Given the description of an element on the screen output the (x, y) to click on. 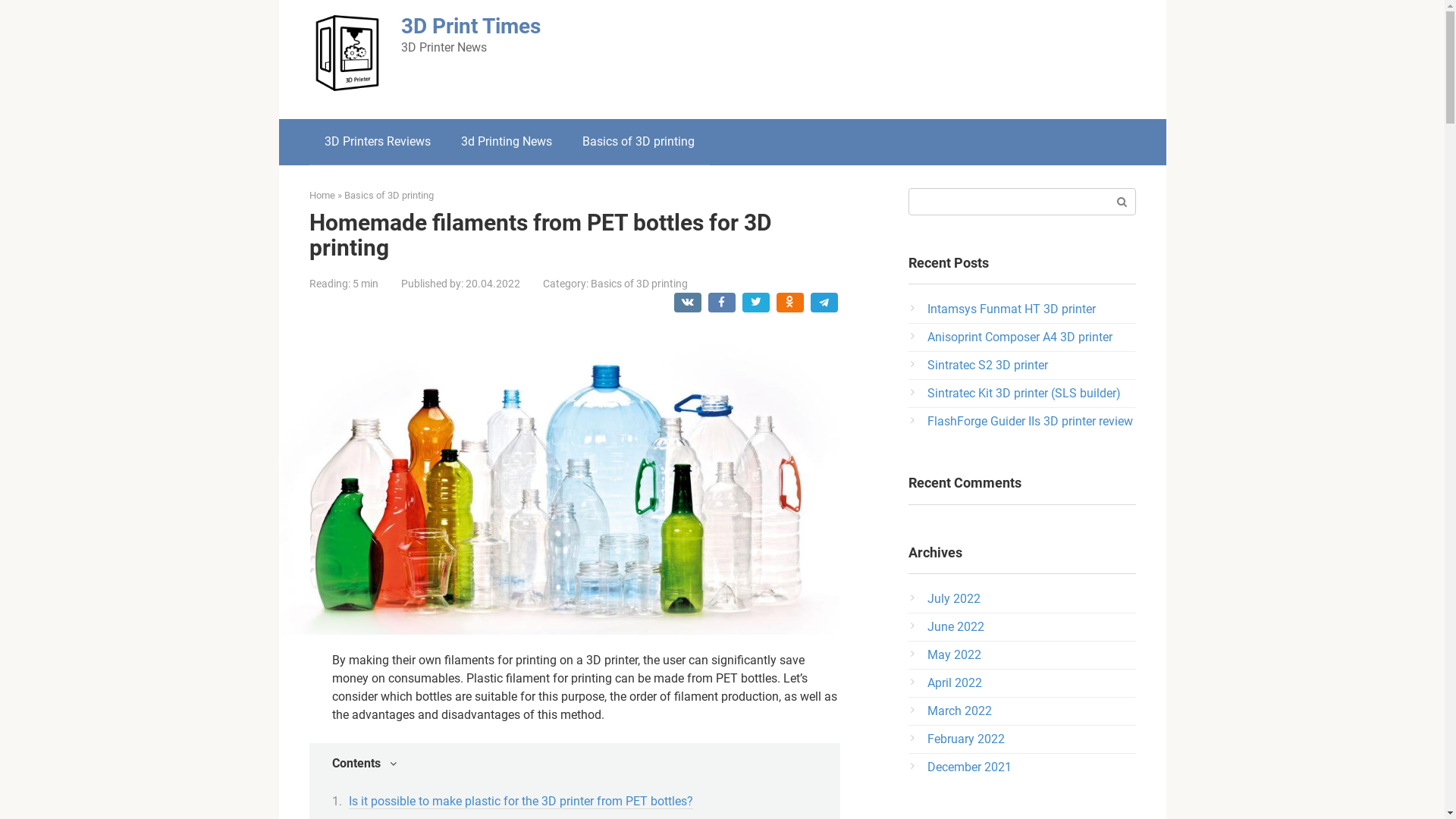
Basics of 3D printing Element type: text (638, 283)
March 2022 Element type: text (958, 710)
3D Print Times Element type: text (469, 25)
Basics of 3D printing Element type: text (638, 141)
Skip to content Element type: text (0, 0)
Intamsys Funmat HT 3D printer Element type: text (1010, 308)
Home Element type: text (322, 194)
July 2022 Element type: text (952, 598)
Sintratec Kit 3D printer (SLS builder) Element type: text (1023, 392)
3D Printers Reviews Element type: text (377, 141)
April 2022 Element type: text (953, 682)
February 2022 Element type: text (965, 738)
Basics of 3D printing Element type: text (388, 194)
3d Printing News Element type: text (506, 141)
December 2021 Element type: text (968, 766)
June 2022 Element type: text (954, 626)
FlashForge Guider IIs 3D printer review Element type: text (1029, 421)
Sintratec S2 3D printer Element type: text (986, 364)
May 2022 Element type: text (953, 654)
Anisoprint Composer A4 3D printer Element type: text (1018, 336)
